Given the description of an element on the screen output the (x, y) to click on. 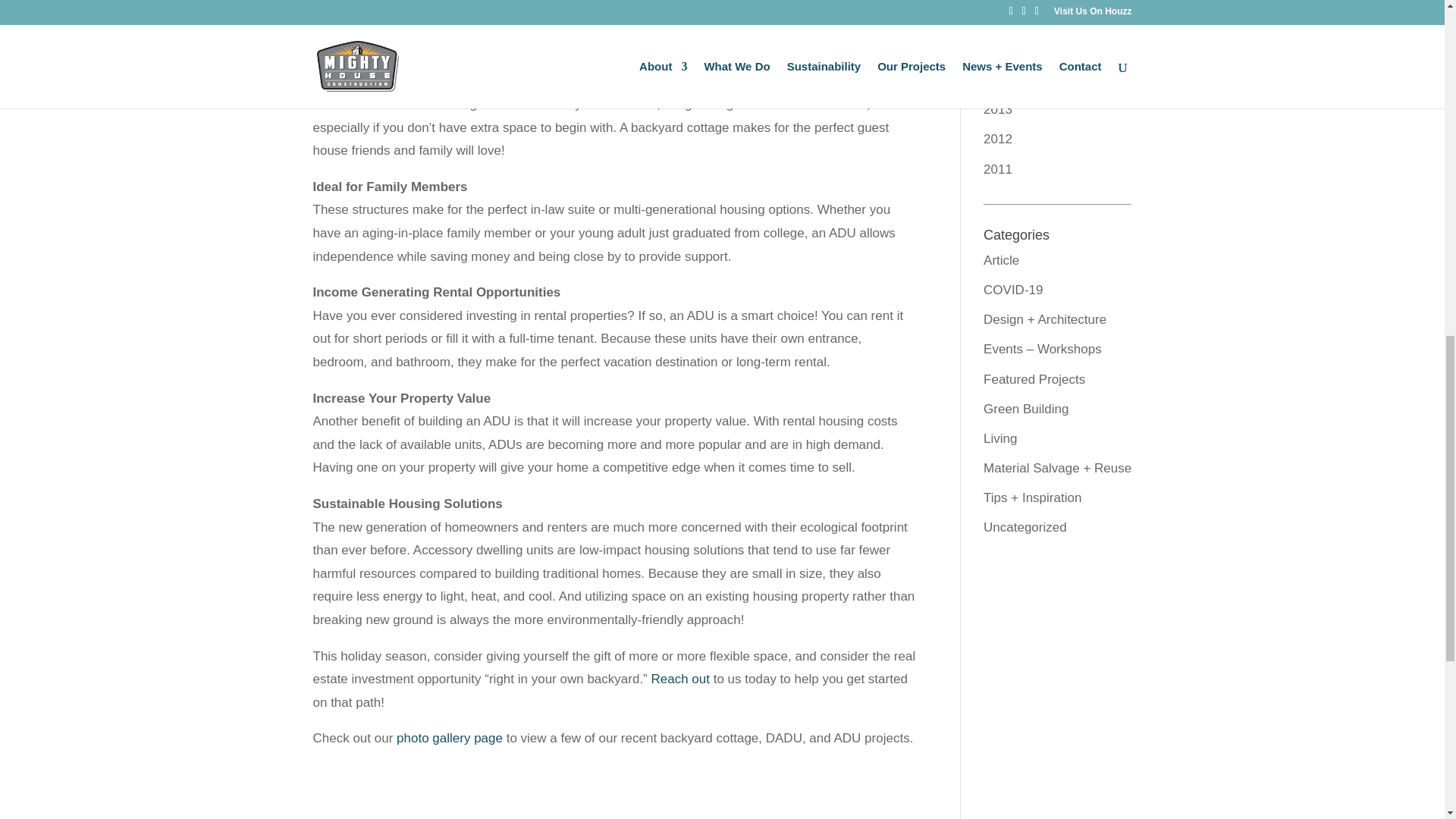
photo gallery page (449, 738)
Reach out (680, 678)
